Given the description of an element on the screen output the (x, y) to click on. 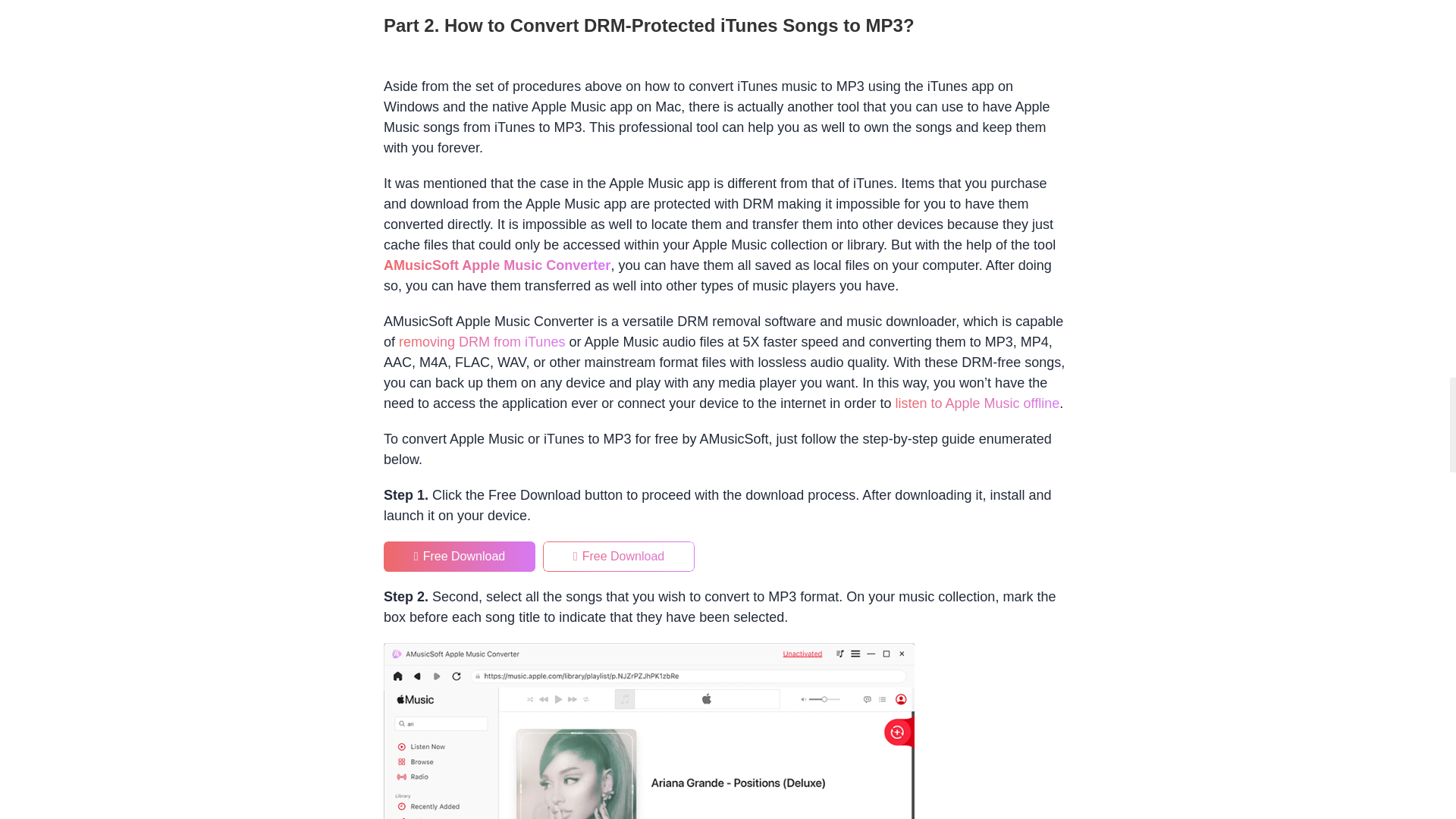
listen to Apple Music offline (977, 403)
Free Download (618, 556)
Can I Listen to Apple Music Offline? (977, 403)
Free Download (618, 556)
How To Remove DRM From iTunes Music (481, 341)
Free Download (459, 556)
Free Download (459, 556)
AMusicSoft Apple Music Converter (497, 264)
removing DRM from iTunes (481, 341)
AMusicSoft Apple Music Converter (497, 264)
